Given the description of an element on the screen output the (x, y) to click on. 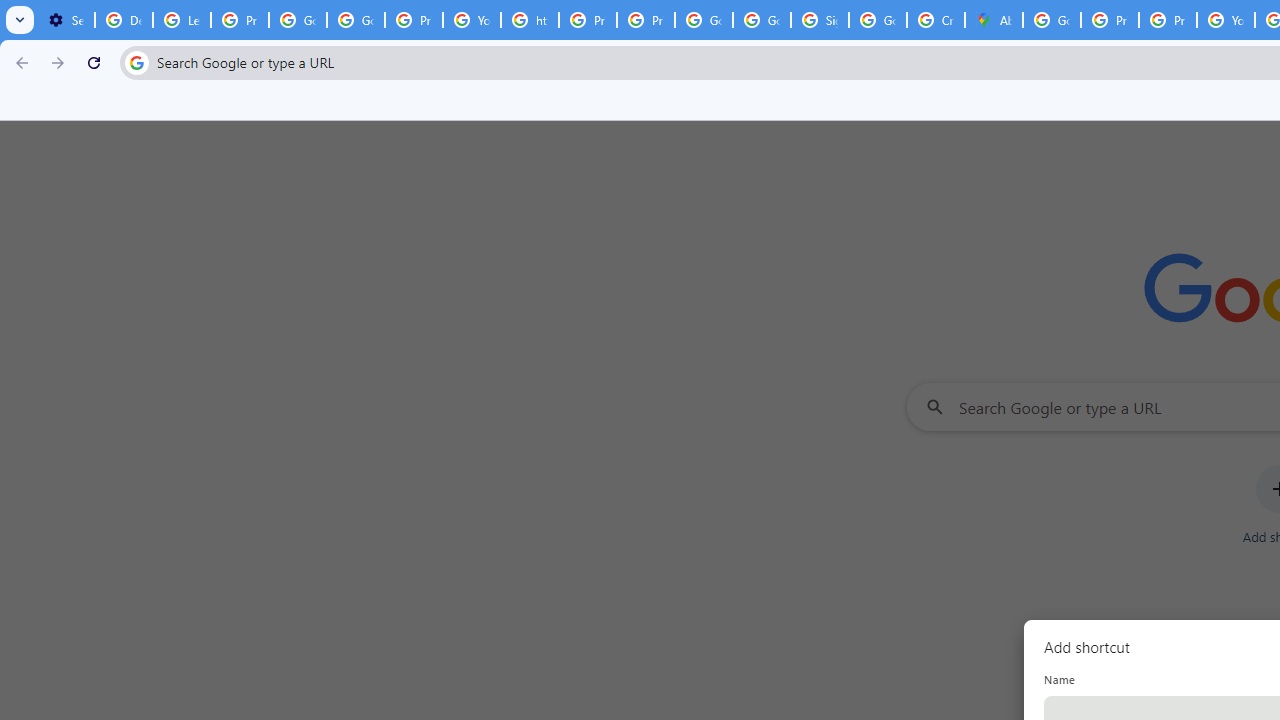
Settings - On startup (65, 20)
Privacy Help Center - Policies Help (587, 20)
Sign in - Google Accounts (819, 20)
YouTube (1225, 20)
https://scholar.google.com/ (529, 20)
Delete photos & videos - Computer - Google Photos Help (123, 20)
Privacy Help Center - Policies Help (1110, 20)
